Given the description of an element on the screen output the (x, y) to click on. 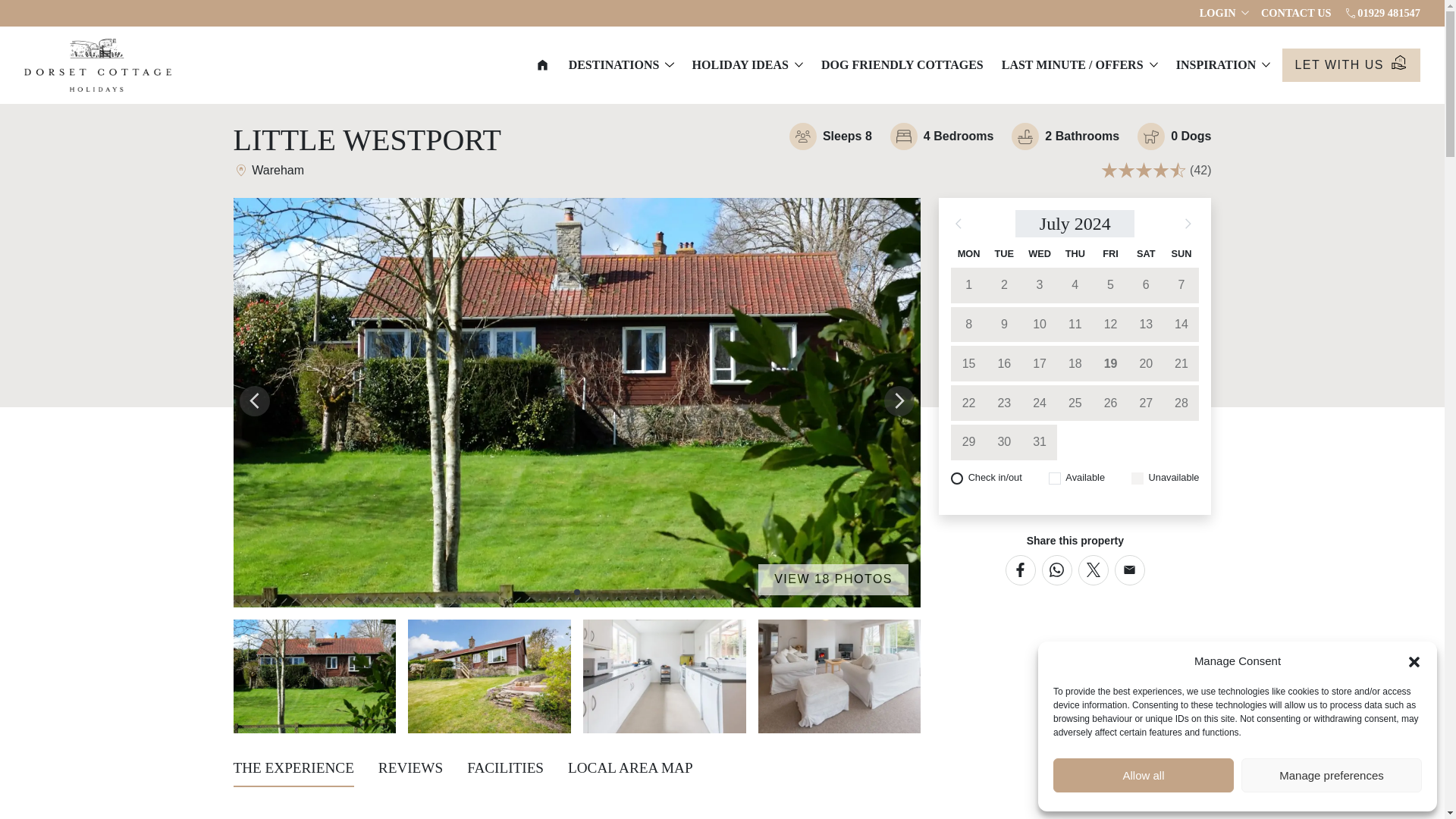
Allow all (1142, 775)
Dorset Cottage Holidays (97, 63)
Manage preferences (1331, 775)
